Given the description of an element on the screen output the (x, y) to click on. 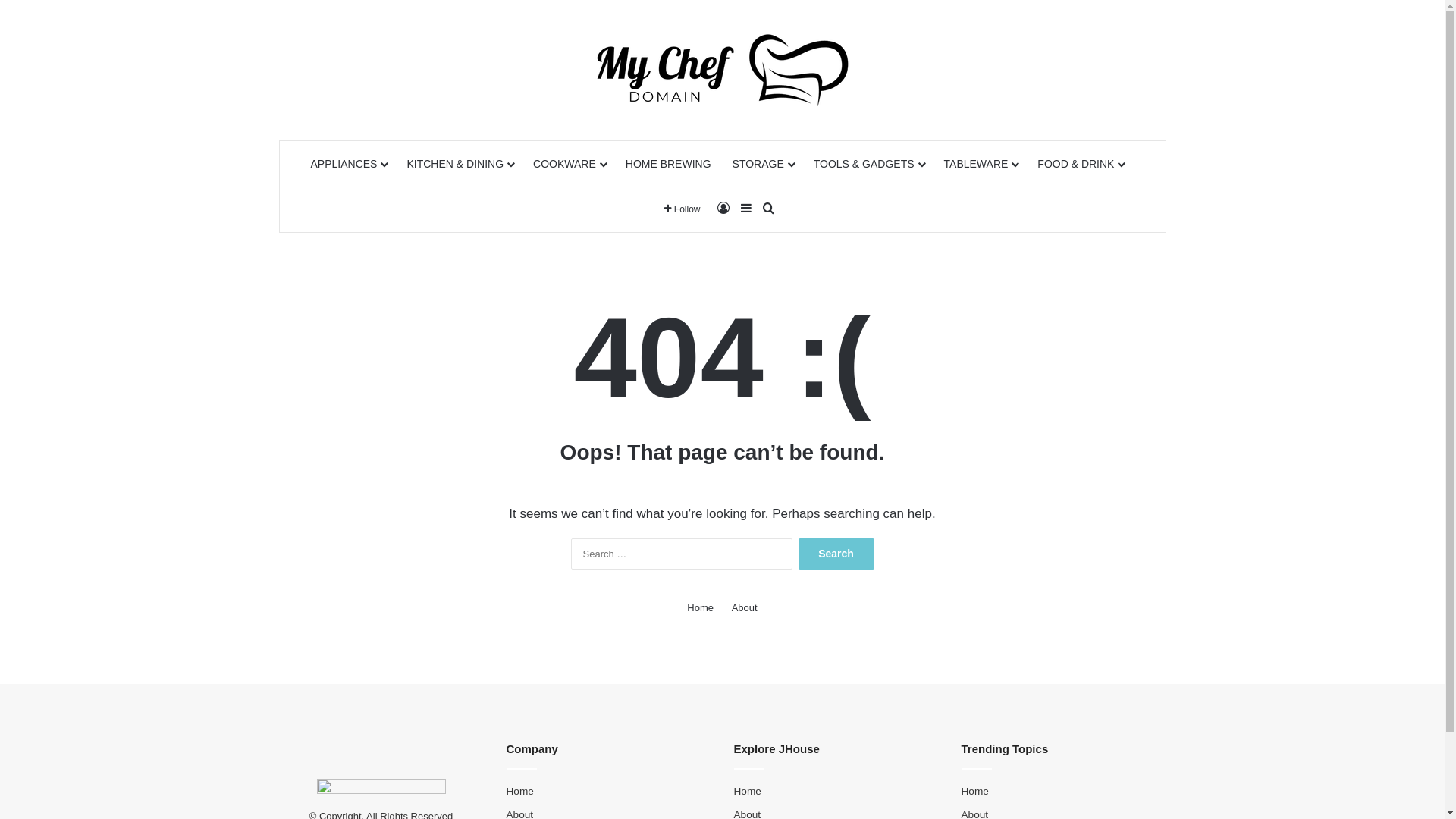
STORAGE Element type: text (762, 163)
Home Element type: text (974, 791)
Home Element type: text (747, 791)
Chef Toolbox Element type: hover (722, 69)
KITCHEN & DINING Element type: text (458, 163)
Home Element type: text (700, 607)
APPLIANCES Element type: text (348, 163)
TABLEWARE Element type: text (980, 163)
Search for Element type: text (768, 209)
Search Element type: text (835, 553)
Home Element type: text (519, 791)
About Element type: text (744, 607)
FOOD & DRINK Element type: text (1079, 163)
COOKWARE Element type: text (568, 163)
Sidebar Element type: text (745, 209)
HOME BREWING Element type: text (668, 163)
TOOLS & GADGETS Element type: text (868, 163)
Log In Element type: text (723, 209)
Follow Element type: text (681, 209)
